Given the description of an element on the screen output the (x, y) to click on. 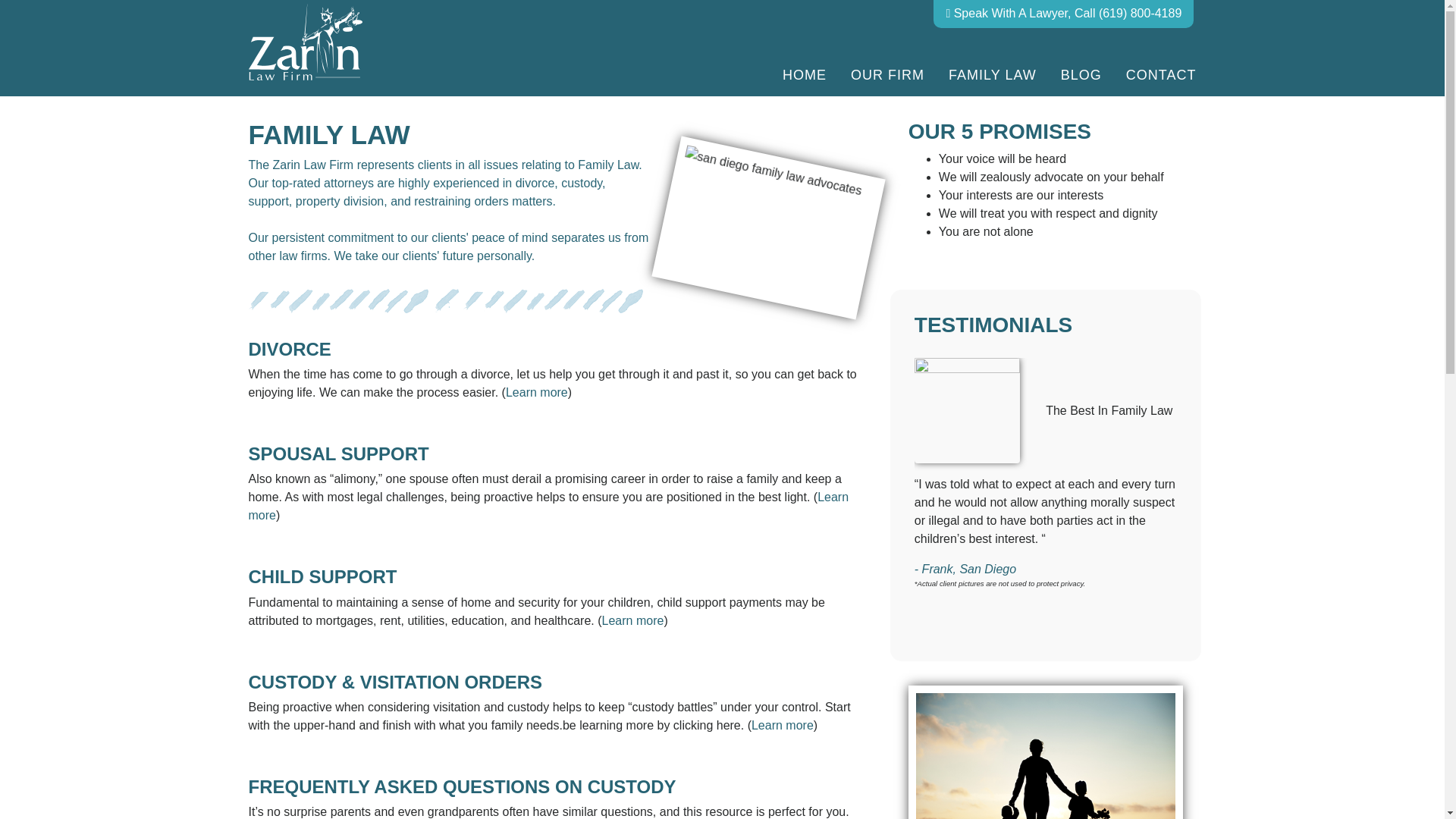
Learn more (782, 725)
Learn more (632, 620)
SPOUSAL SUPPORT (338, 453)
Learn more (548, 505)
Learn more (536, 391)
HOME (804, 75)
Zarin Law Firm (305, 45)
CONTACT (1154, 75)
DIVORCE (289, 349)
FREQUENTLY ASKED QUESTIONS ON CUSTODY (462, 786)
